Given the description of an element on the screen output the (x, y) to click on. 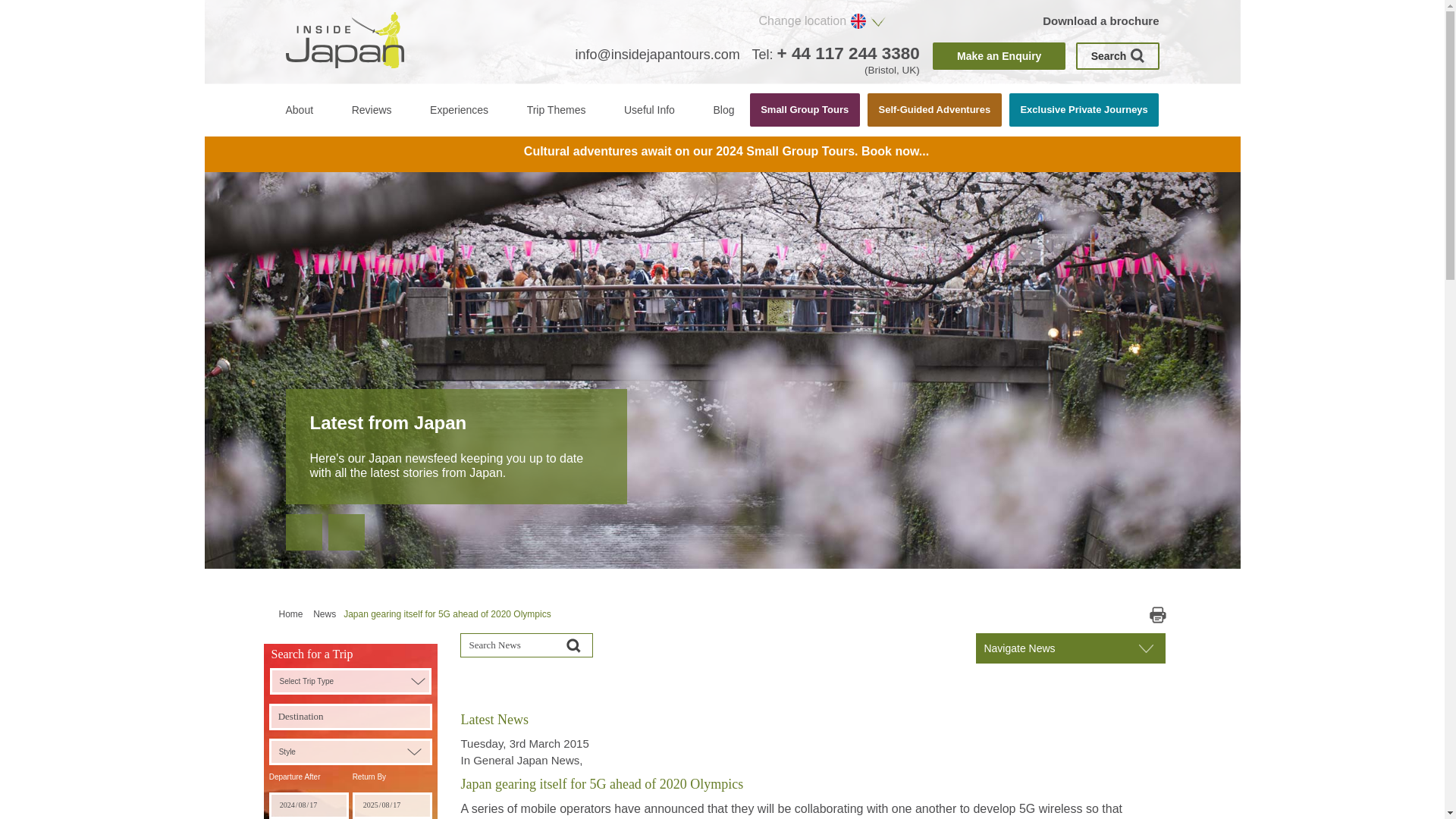
2025-08-17 (392, 805)
Reviews (371, 110)
2025-08-17 (392, 805)
About (299, 110)
Trip Themes (556, 110)
Search (1116, 55)
2024-08-17 (309, 805)
Experiences (458, 110)
Inside Japan Tours (344, 39)
Make an Enquiry (999, 55)
